Given the description of an element on the screen output the (x, y) to click on. 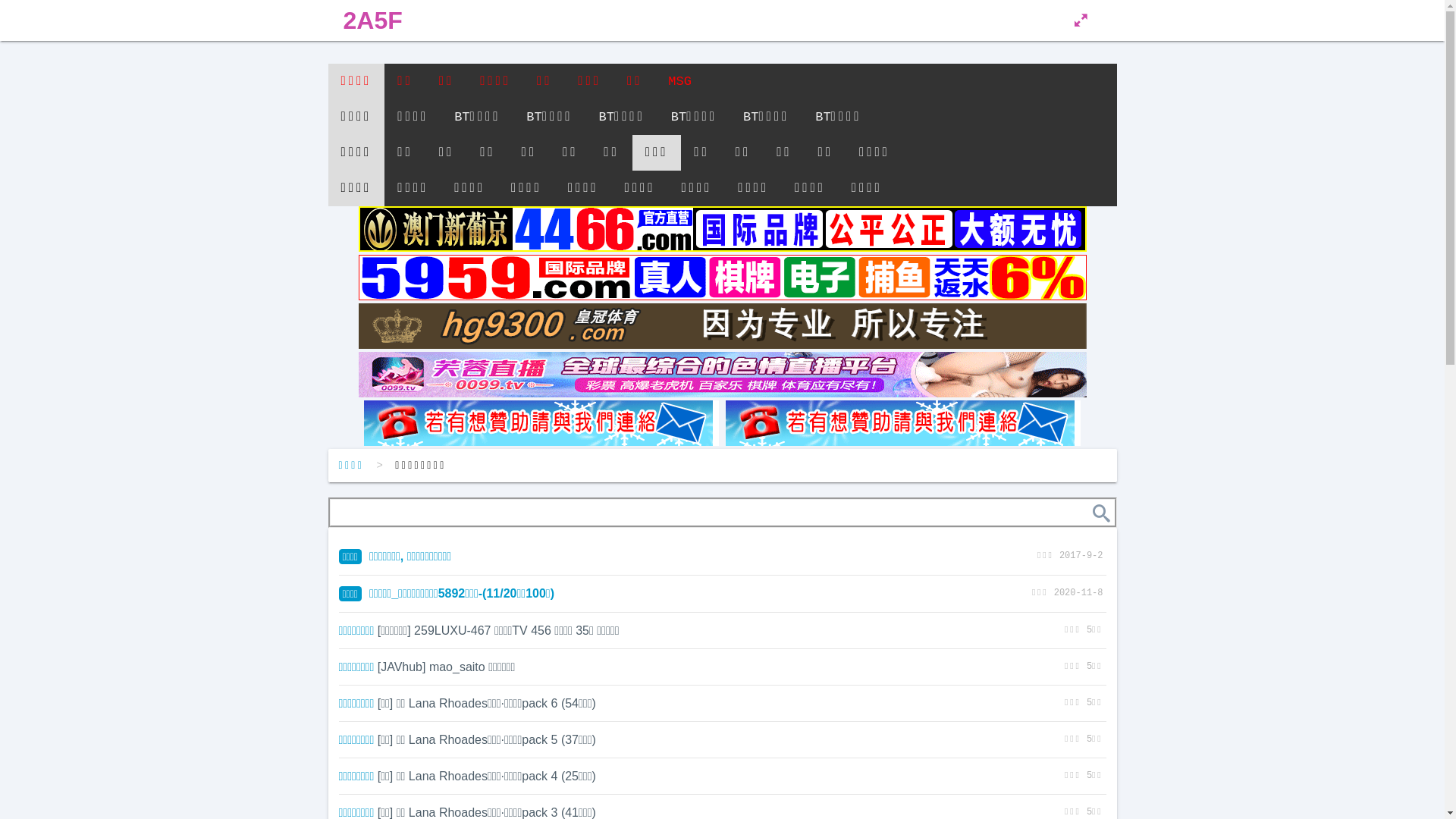
2A5F Element type: text (372, 20)
MSG Element type: text (679, 81)
